Given the description of an element on the screen output the (x, y) to click on. 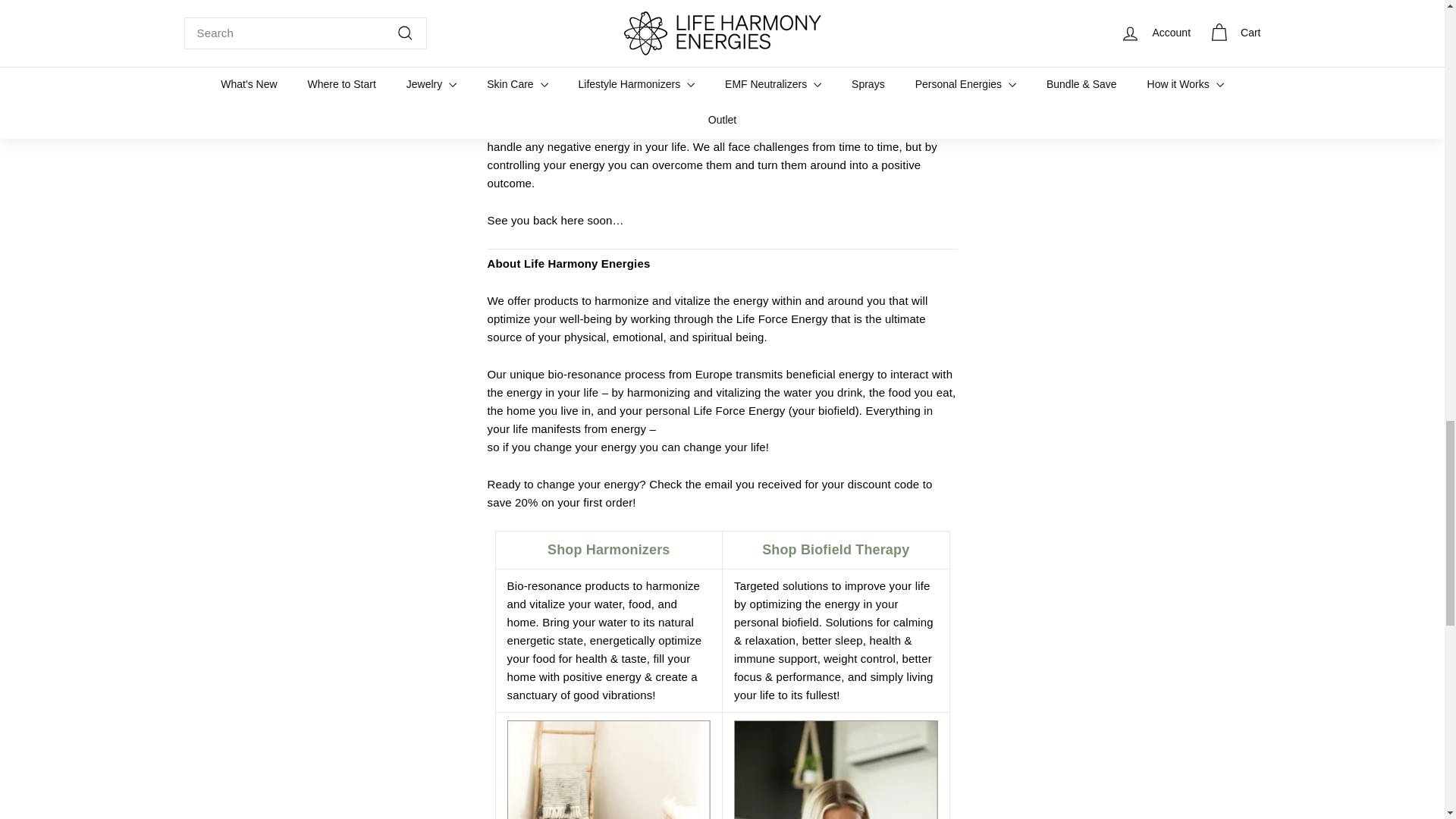
Biofield Therapy Energy Products (835, 769)
Home, Water, Energy Harmonizers (608, 769)
